Given the description of an element on the screen output the (x, y) to click on. 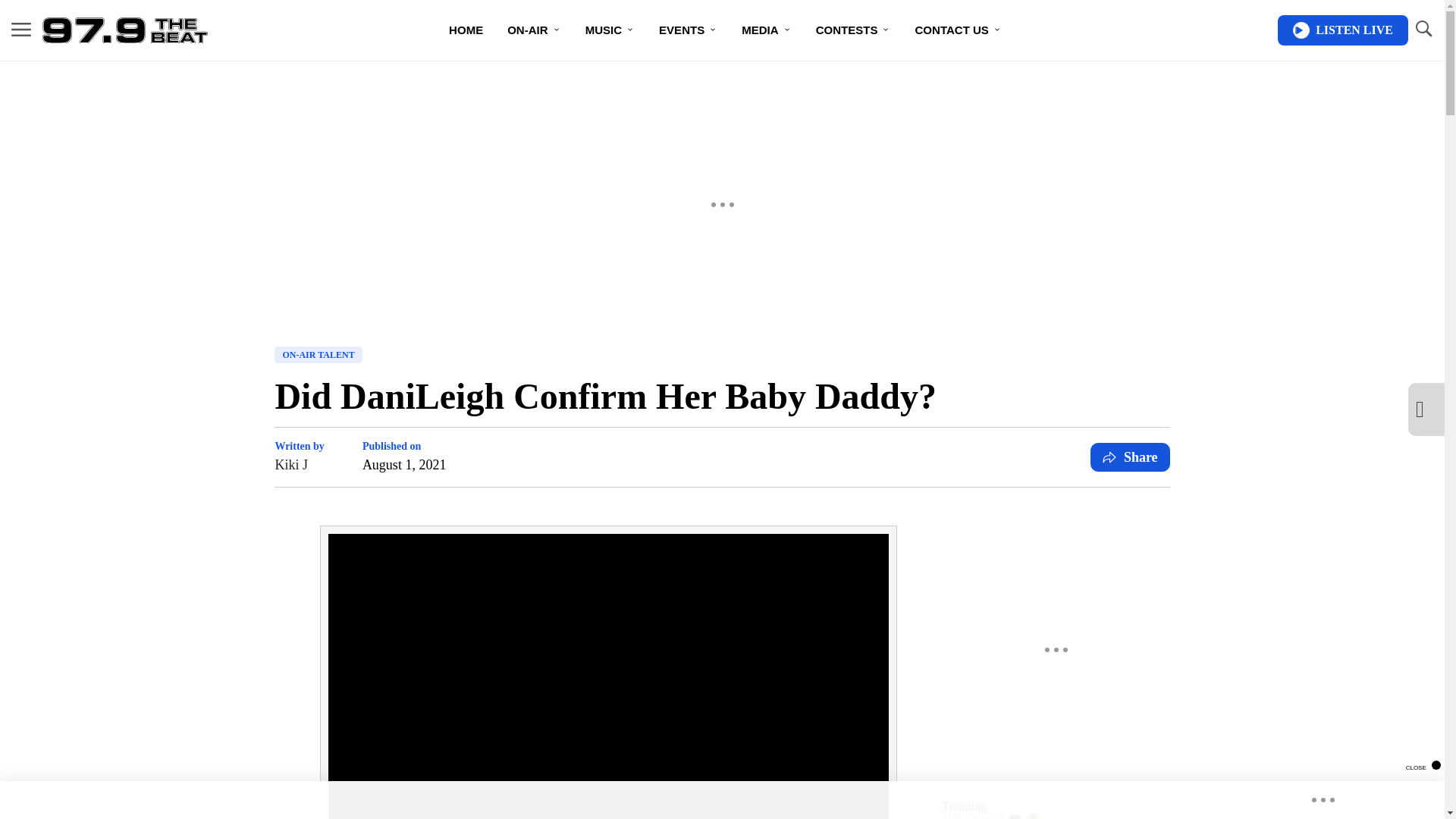
TOGGLE SEARCH (1422, 30)
MENU (20, 29)
EVENTS (687, 30)
CONTACT US (957, 30)
MUSIC (609, 30)
HOME (465, 30)
LISTEN LIVE (1342, 30)
MENU (20, 30)
ON-AIR (533, 30)
CONTESTS (852, 30)
